Given the description of an element on the screen output the (x, y) to click on. 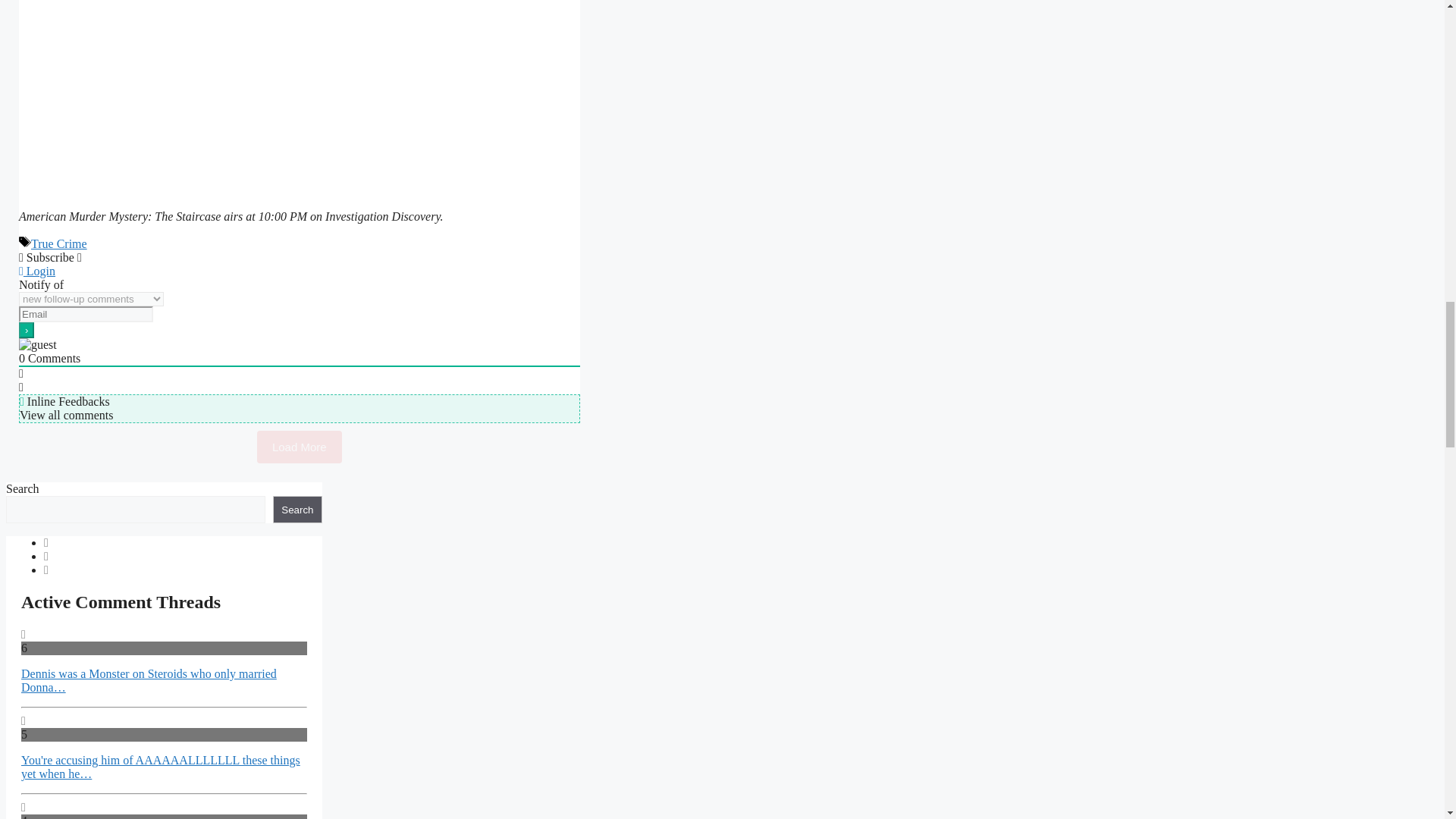
Login (36, 270)
True Crime (58, 243)
Michael Peterson accepts plea deal, walks free (311, 97)
Load More (299, 446)
